Given the description of an element on the screen output the (x, y) to click on. 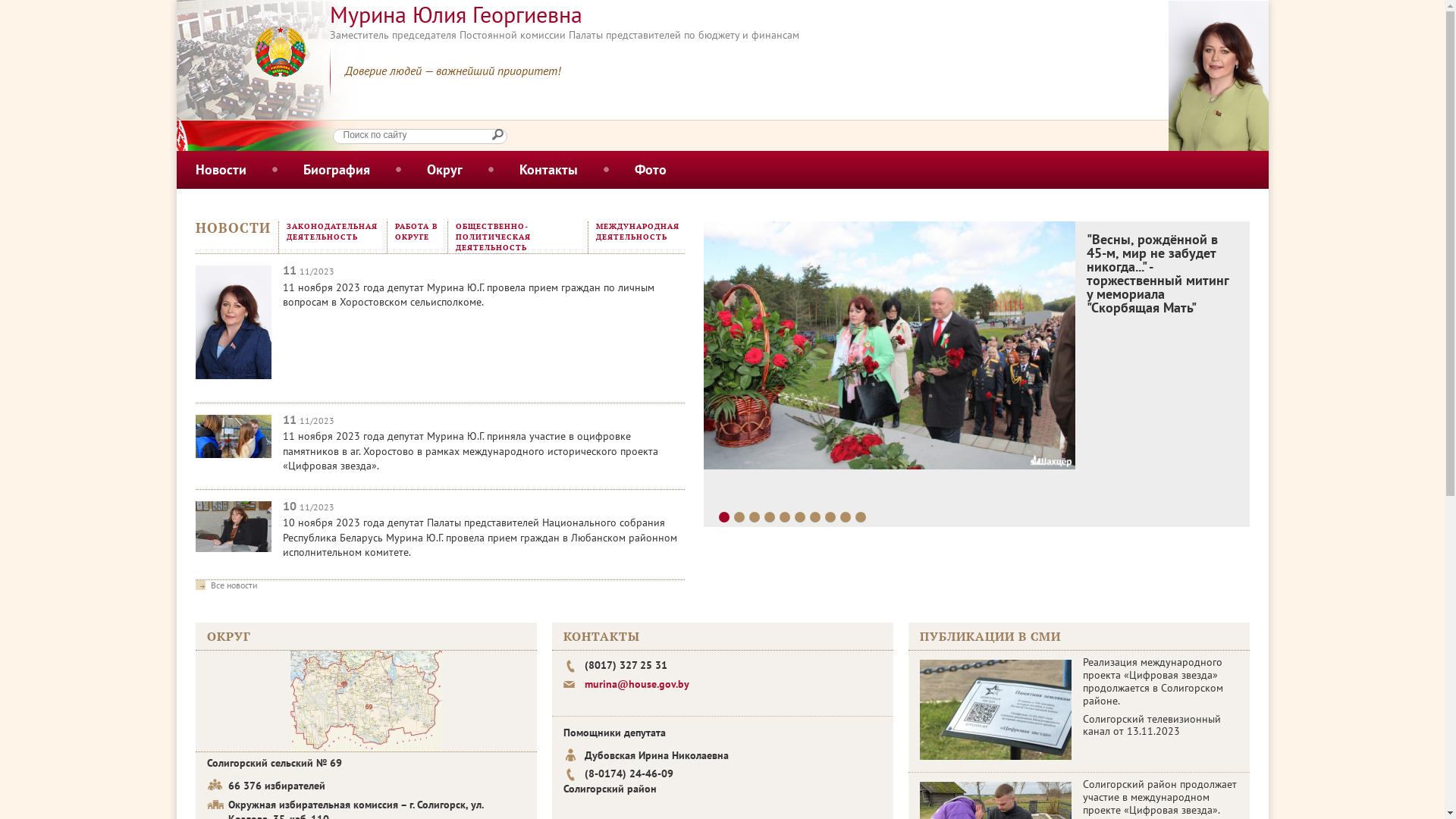
murina@house.gov.by Element type: text (635, 683)
  Element type: hover (365, 700)
